Given the description of an element on the screen output the (x, y) to click on. 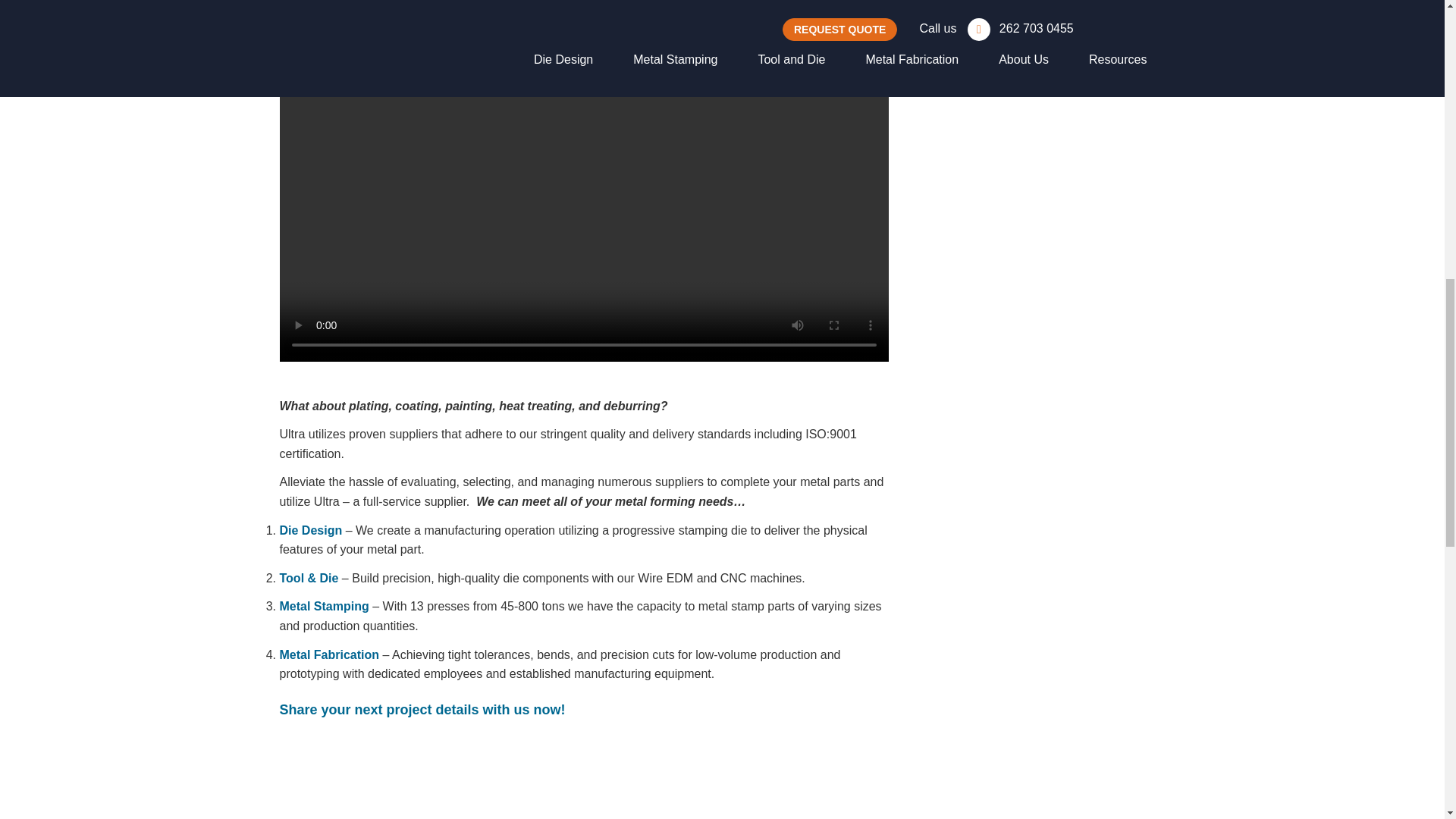
Metal Fabrication (328, 654)
Metal Stamping (323, 605)
Die Design (310, 530)
Share your next project details with us now! (421, 709)
